Given the description of an element on the screen output the (x, y) to click on. 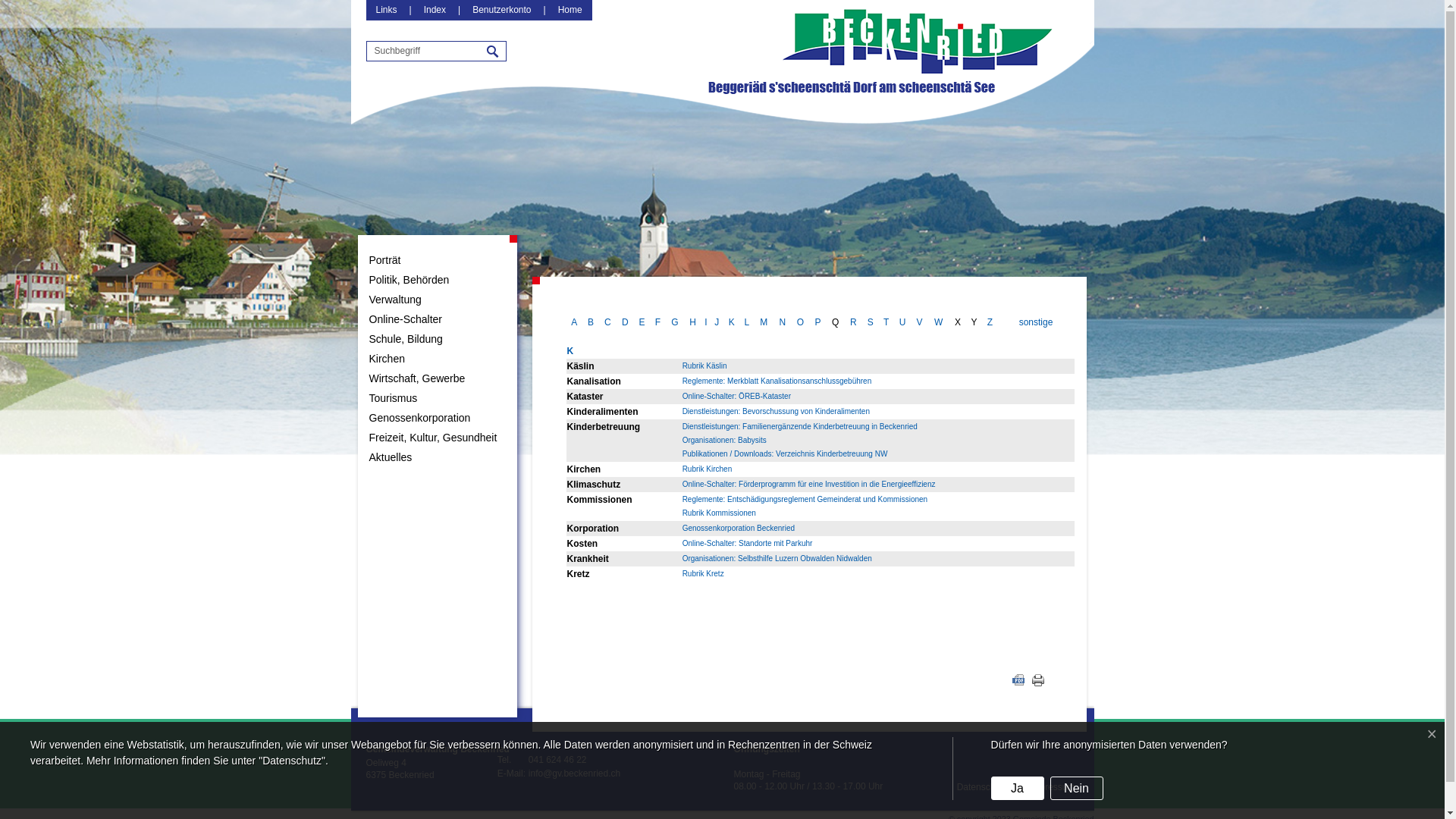
Links Element type: text (386, 9)
J Element type: text (716, 321)
Freizeit, Kultur, Gesundheit Element type: text (437, 437)
Online-Schalter Element type: text (437, 319)
U Element type: text (902, 321)
P Element type: text (818, 321)
Dienstleistungen: Bevorschussung von Kinderalimenten Element type: text (775, 411)
Benutzerkonto Element type: text (501, 9)
Aktuelles Element type: text (437, 457)
Online-Schalter: Standorte mit Parkuhr Element type: text (747, 543)
W Element type: text (938, 321)
I Element type: text (705, 321)
C Element type: text (607, 321)
info@gv.beckenried.ch Element type: text (574, 773)
K Element type: text (731, 321)
Suchbegriff Element type: text (425, 50)
Verwaltung Element type: text (437, 299)
Ja Element type: text (1017, 788)
Genossenkorporation Beckenried Element type: text (738, 528)
Home Element type: text (570, 9)
F Element type: text (657, 321)
G Element type: text (674, 321)
Kirchen Element type: text (437, 358)
Tourismus Element type: text (437, 397)
E Element type: text (642, 321)
V Element type: text (919, 321)
Datenschutz Element type: text (982, 786)
Schule, Bildung Element type: text (437, 338)
Publikationen / Downloads: Verzeichnis Kinderbetreuung NW Element type: text (785, 453)
S Element type: text (870, 321)
Wirtschaft, Gewerbe Element type: text (437, 378)
Index Element type: text (434, 9)
Impressum Element type: text (1051, 786)
Nein Element type: text (1076, 788)
K Element type: text (570, 357)
H Element type: text (692, 321)
Organisationen: Babysits Element type: text (724, 440)
N Element type: text (781, 321)
Rubrik Kretz Element type: text (703, 573)
O Element type: text (800, 321)
R Element type: text (853, 321)
sonstige Element type: text (1036, 321)
Rubrik Kommissionen Element type: text (719, 512)
A Element type: text (574, 321)
D Element type: text (624, 321)
Z Element type: text (989, 321)
Beckenried Element type: hover (879, 95)
L Element type: text (746, 321)
Genossenkorporation Element type: text (437, 417)
M Element type: text (763, 321)
T Element type: text (885, 321)
Organisationen: Selbsthilfe Luzern Obwalden Nidwalden Element type: text (777, 558)
B Element type: text (590, 321)
Rubrik Kirchen Element type: text (707, 468)
